Given the description of an element on the screen output the (x, y) to click on. 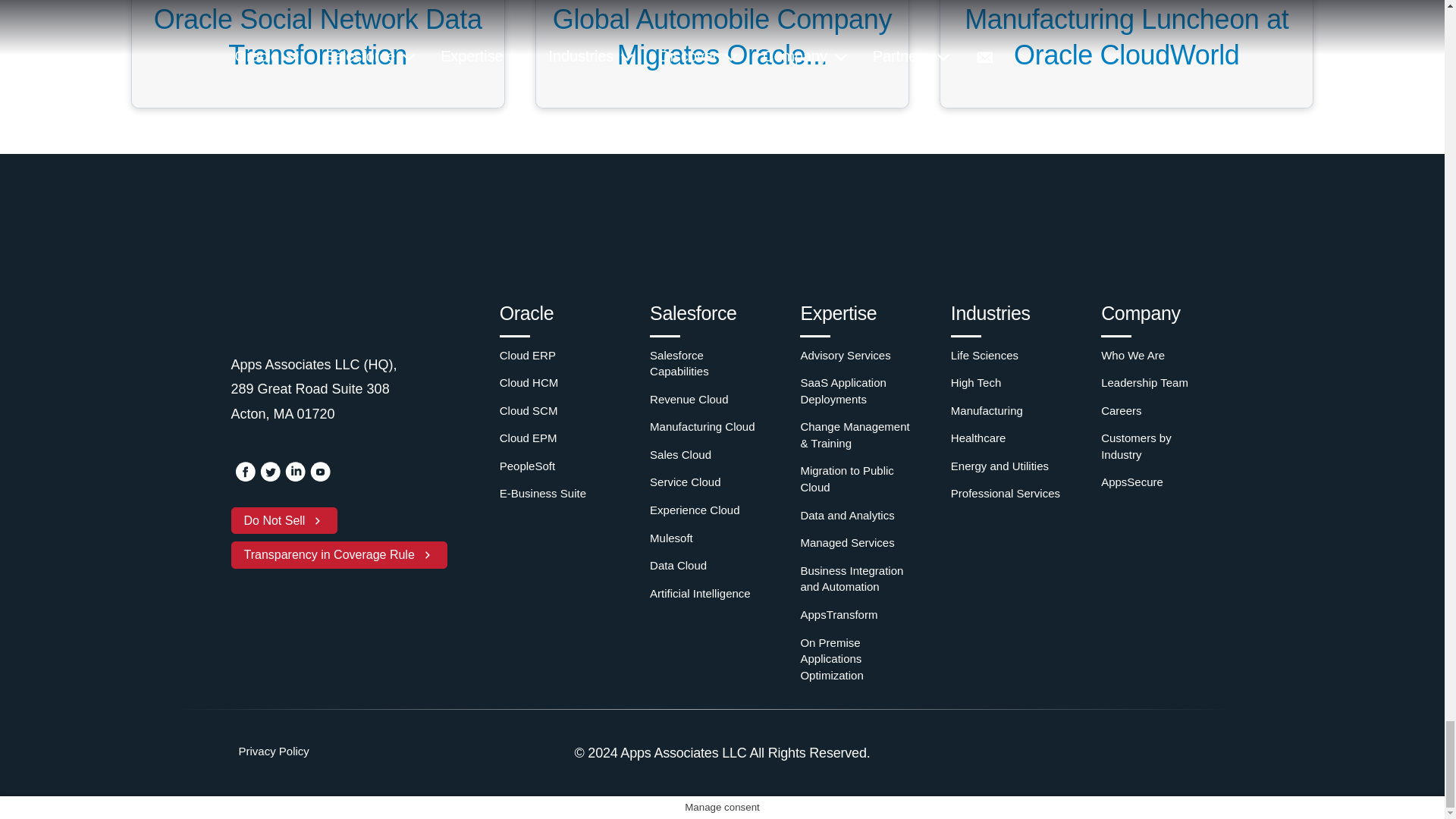
Twitter (269, 477)
LinkedIn (295, 477)
Facebook (244, 477)
YouTube (319, 477)
